Given the description of an element on the screen output the (x, y) to click on. 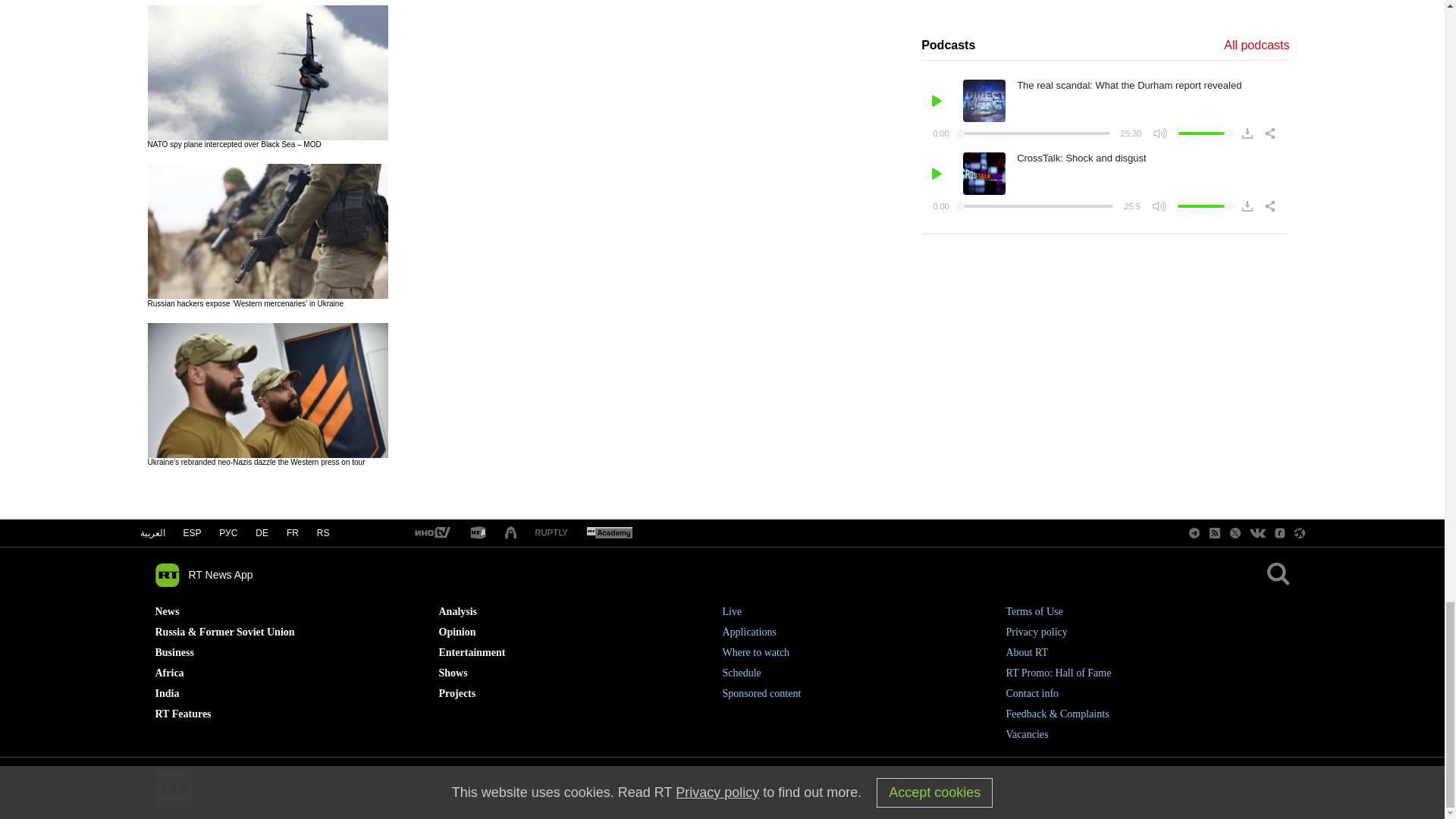
RT  (478, 533)
RT  (608, 533)
RT  (431, 533)
RT  (551, 533)
